Given the description of an element on the screen output the (x, y) to click on. 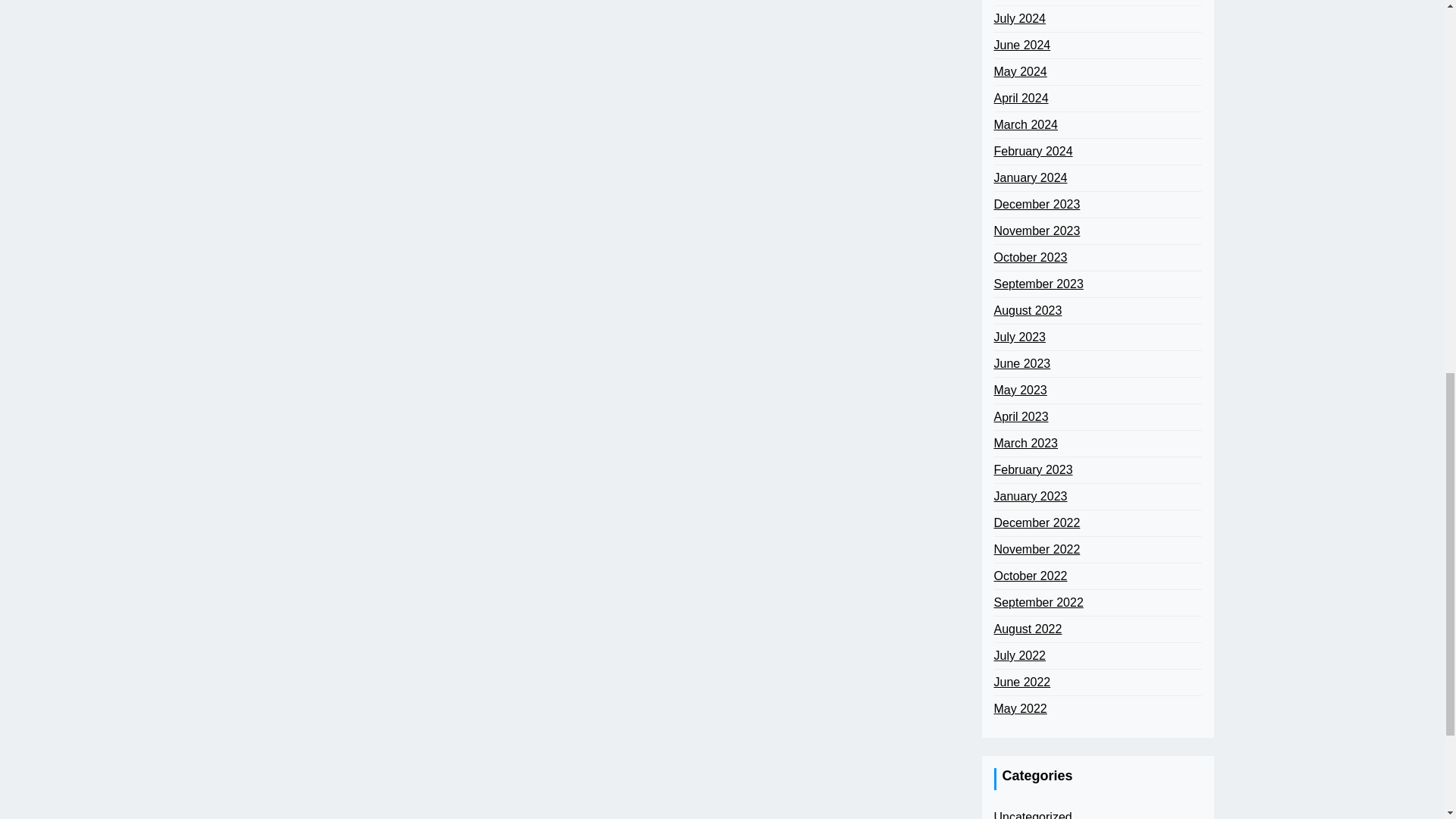
September 2023 (1037, 284)
March 2024 (1025, 125)
April 2024 (1020, 98)
October 2023 (1029, 257)
July 2024 (1018, 18)
June 2023 (1020, 363)
April 2023 (1020, 416)
June 2024 (1020, 45)
August 2024 (1026, 0)
January 2023 (1029, 496)
